Given the description of an element on the screen output the (x, y) to click on. 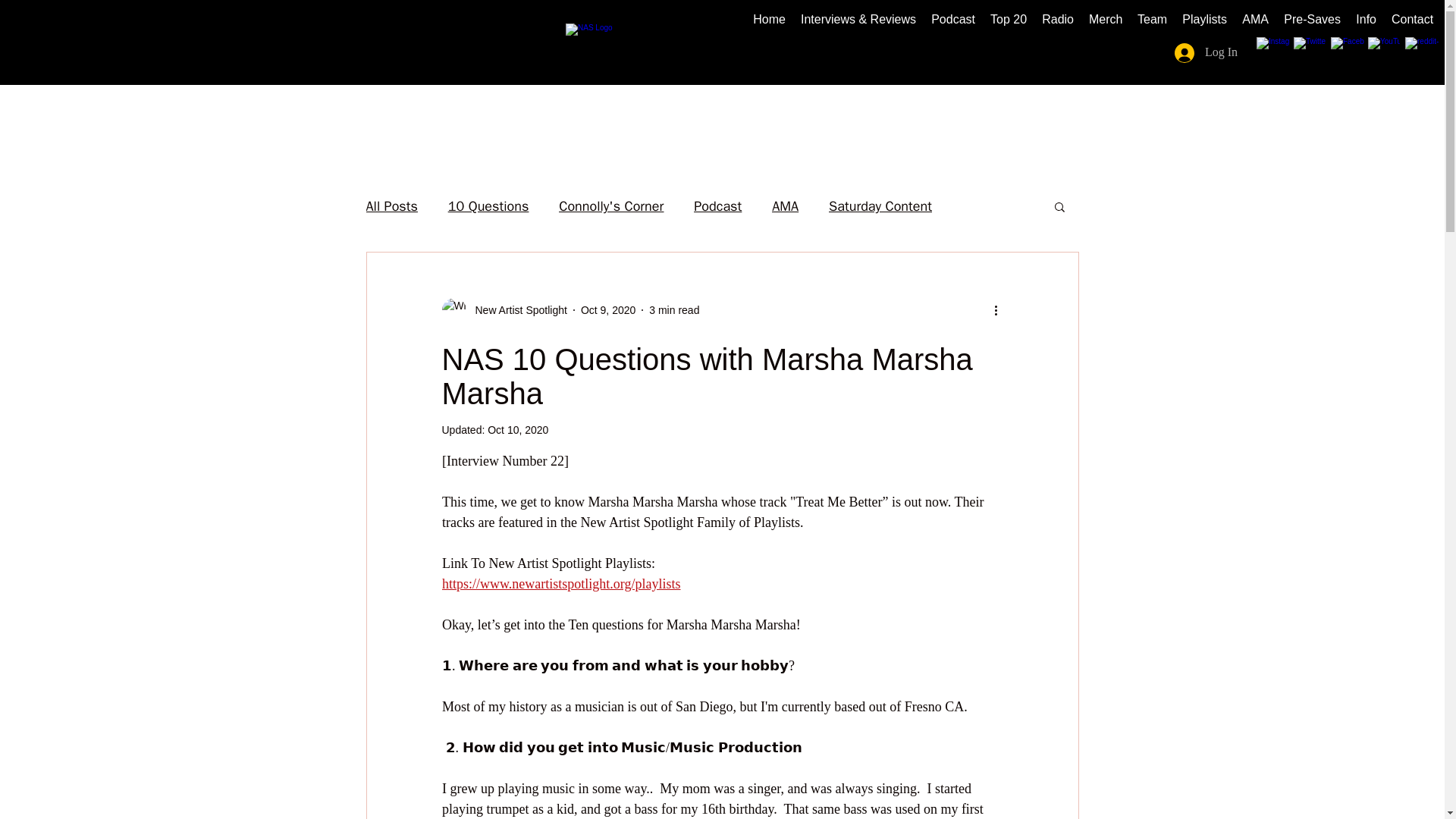
Connolly's Corner (611, 206)
Merch (1105, 19)
New Artist Spotlight (503, 310)
New Artist Spotlight (515, 309)
Top 20 (1007, 19)
Log In (1205, 51)
Saturday Content (879, 206)
Info (1366, 19)
Pre-Saves (1312, 19)
AMA (1255, 19)
Oct 9, 2020 (607, 309)
Contact (1412, 19)
All Posts (390, 206)
10 Questions (488, 206)
Podcast (952, 19)
